Given the description of an element on the screen output the (x, y) to click on. 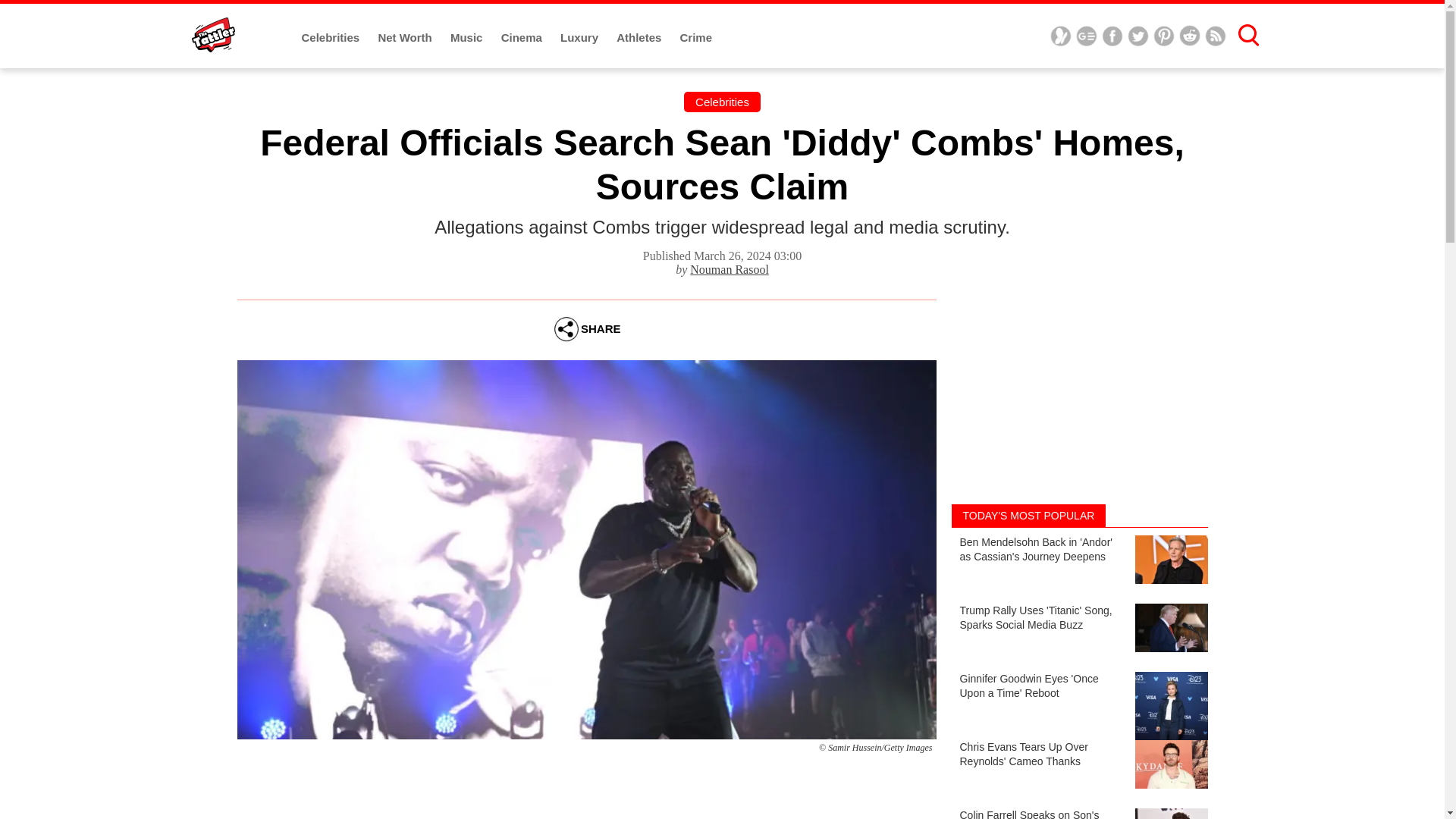
Cinema (522, 37)
Music (467, 37)
Celebrities (722, 101)
Celebrities (331, 37)
Luxury (580, 37)
Athletes (639, 37)
Crime (696, 37)
Net Worth (406, 37)
Nouman Rasool (729, 269)
